Given the description of an element on the screen output the (x, y) to click on. 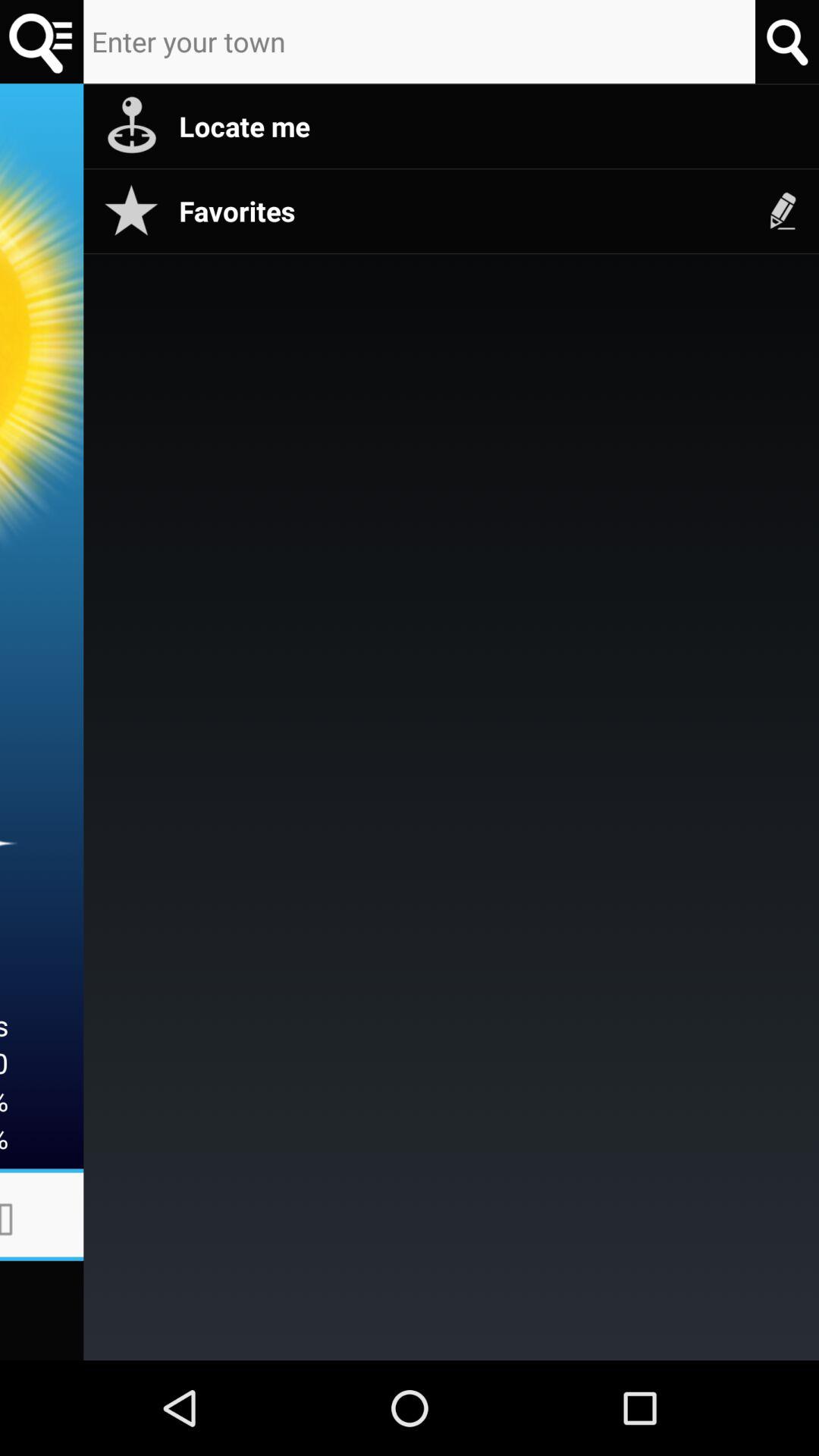
enter your town here (419, 41)
